Given the description of an element on the screen output the (x, y) to click on. 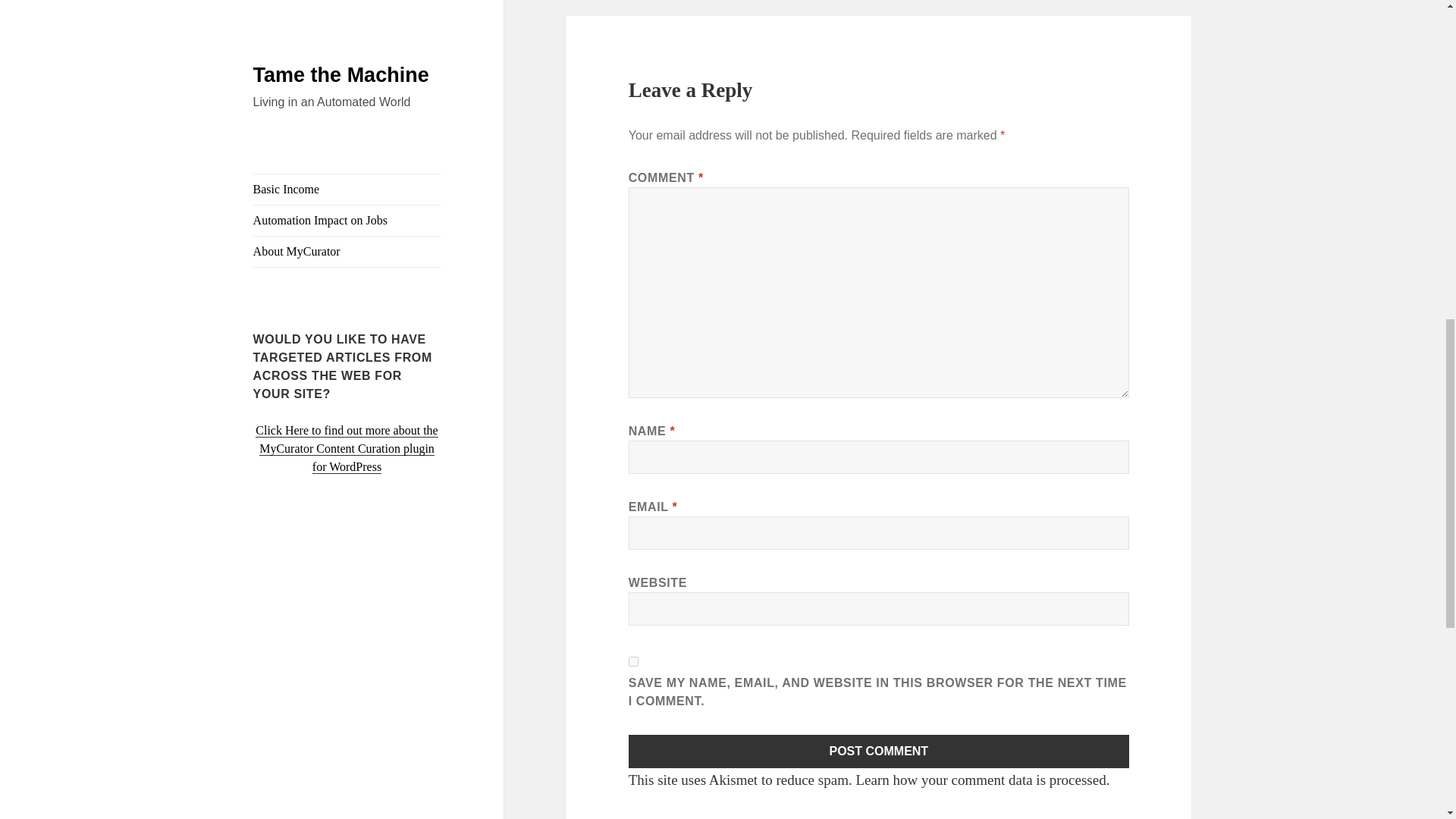
yes (633, 661)
Learn how your comment data is processed (980, 779)
Post Comment (878, 751)
Post Comment (878, 751)
